Given the description of an element on the screen output the (x, y) to click on. 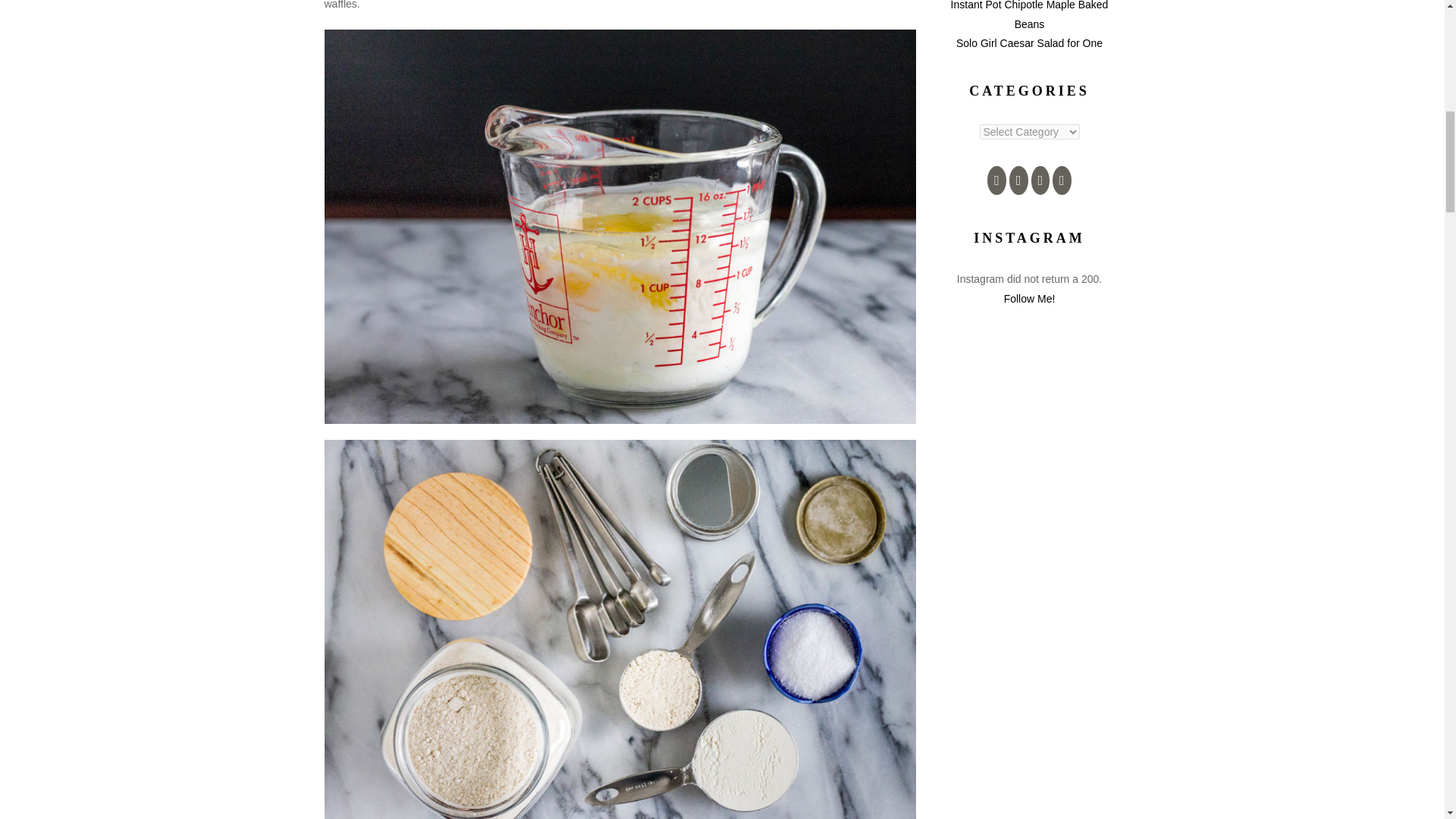
Instant Pot Chipotle Maple Baked Beans (1029, 14)
Solo Girl Caesar Salad for One (1029, 42)
